Given the description of an element on the screen output the (x, y) to click on. 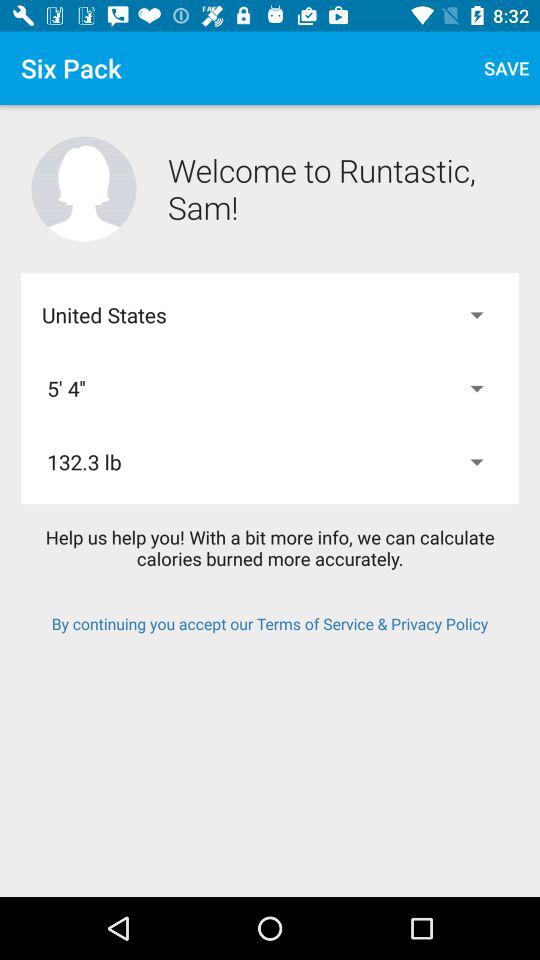
scroll to the by continuing you (270, 623)
